Given the description of an element on the screen output the (x, y) to click on. 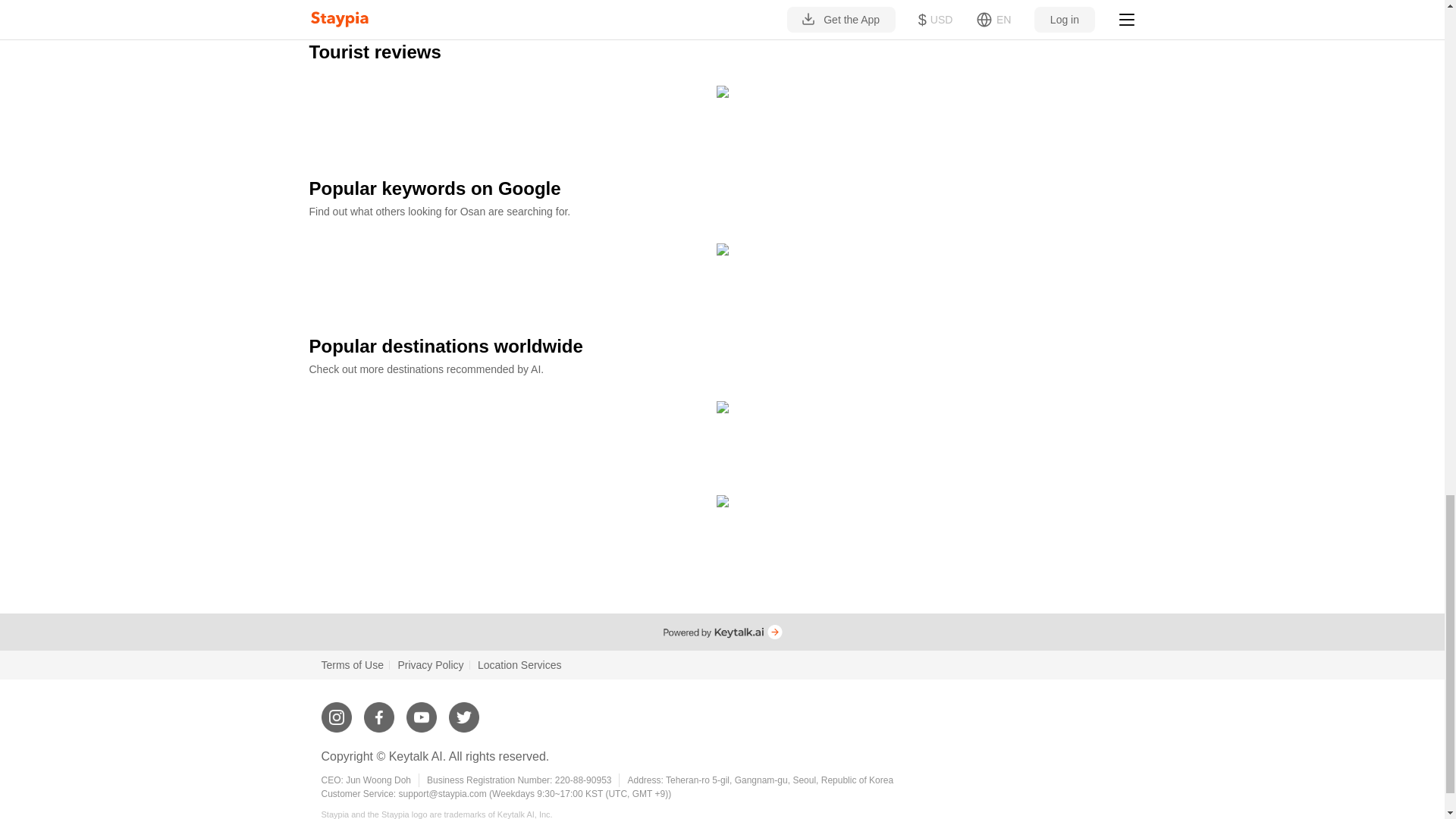
Terms of Use (352, 664)
facebook (379, 710)
twitter (463, 710)
Privacy Policy (430, 664)
youtube (421, 710)
Location Services (519, 664)
instagram (336, 710)
